Given the description of an element on the screen output the (x, y) to click on. 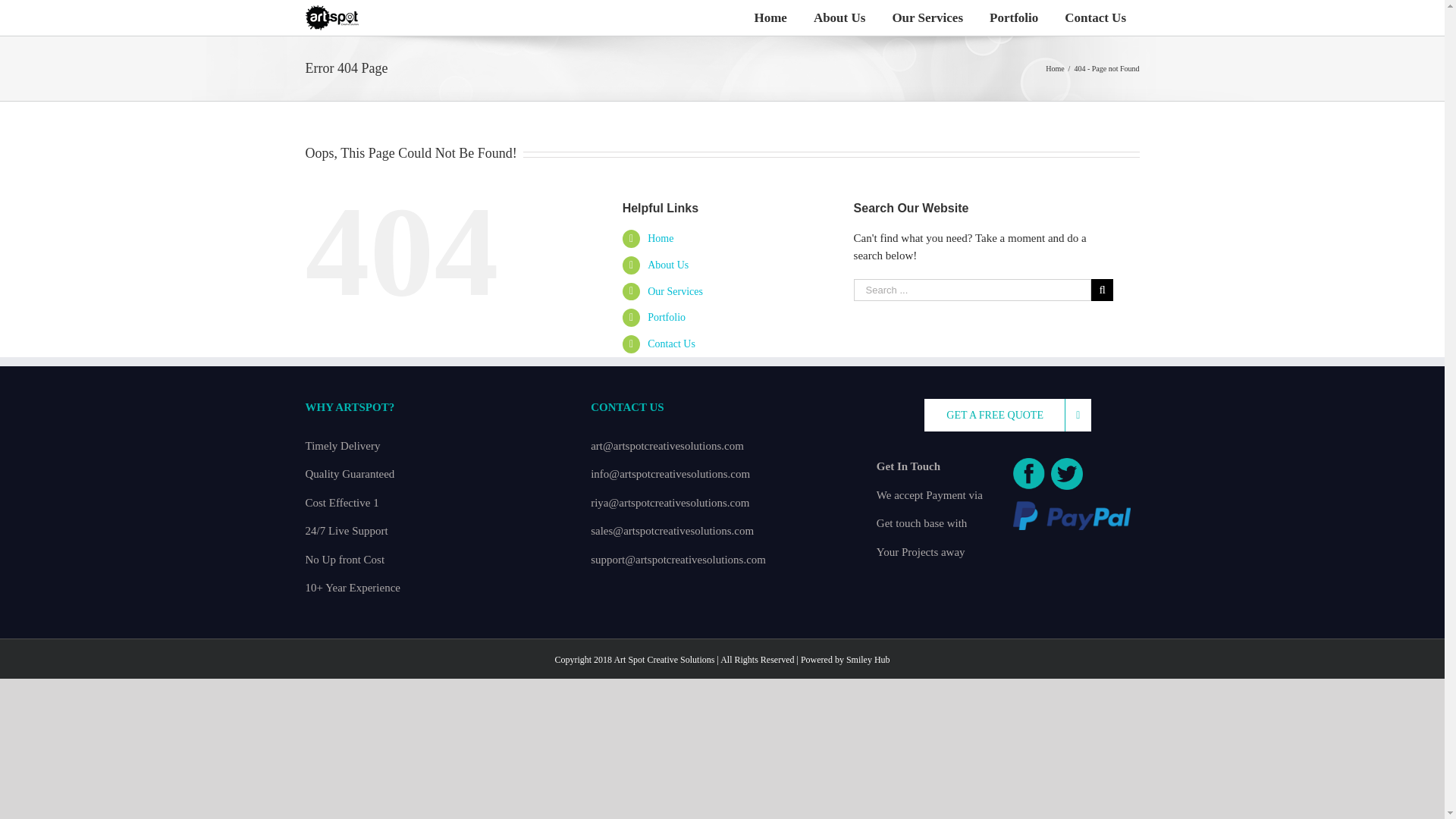
Our Services (927, 18)
Portfolio (1013, 18)
About Us (667, 265)
Smiley Hub (867, 659)
Contact Us (1095, 18)
Home (770, 18)
Portfolio (666, 317)
Home (1054, 68)
Contact Us (671, 343)
GET A FREE QUOTE (1007, 414)
Home (659, 238)
About Us (839, 18)
Our Services (675, 291)
